Given the description of an element on the screen output the (x, y) to click on. 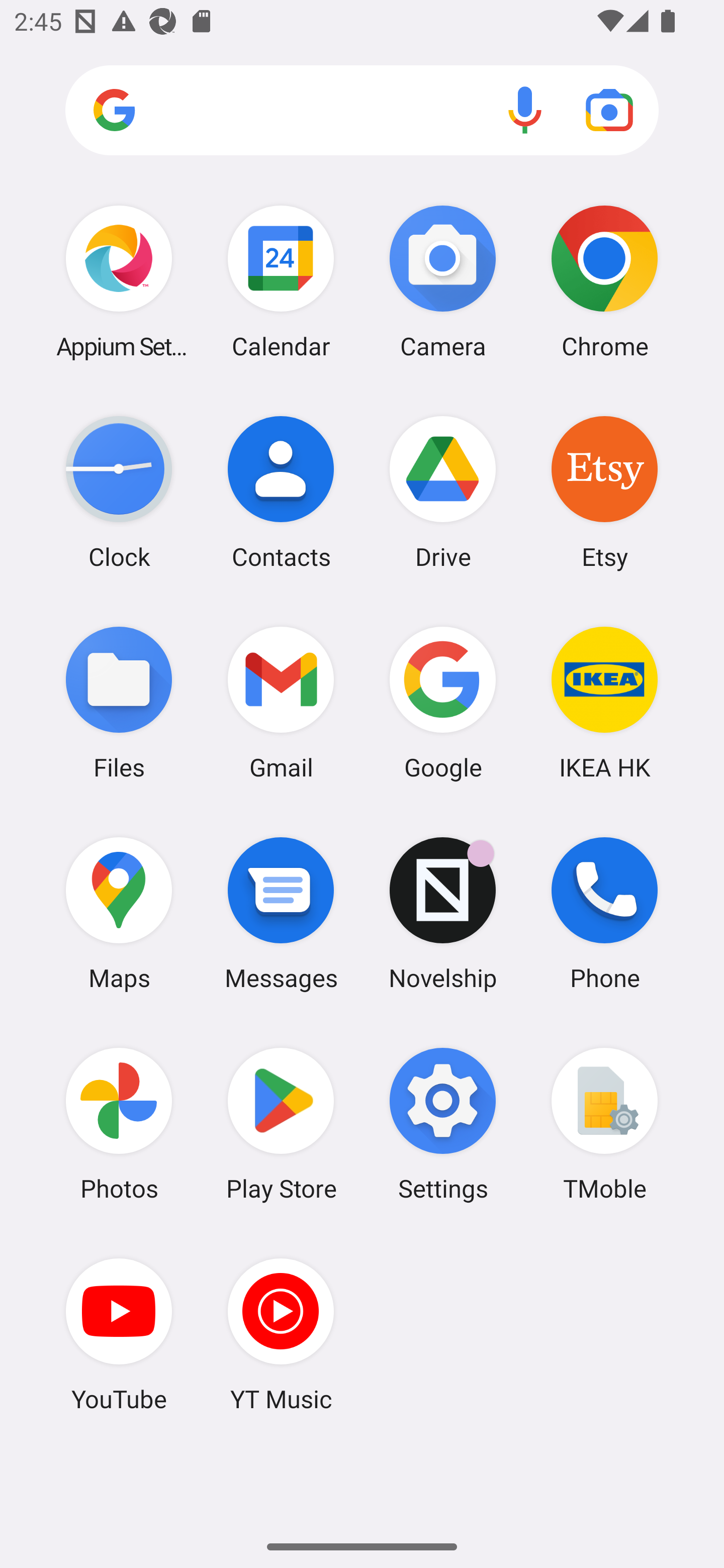
Search apps, web and more (361, 110)
Voice search (524, 109)
Google Lens (608, 109)
Appium Settings (118, 281)
Calendar (280, 281)
Camera (443, 281)
Chrome (604, 281)
Clock (118, 492)
Contacts (280, 492)
Drive (443, 492)
Etsy (604, 492)
Files (118, 702)
Gmail (280, 702)
Google (443, 702)
IKEA HK (604, 702)
Maps (118, 913)
Messages (280, 913)
Novelship Novelship has 1 notification (443, 913)
Phone (604, 913)
Photos (118, 1124)
Play Store (280, 1124)
Settings (443, 1124)
TMoble (604, 1124)
YouTube (118, 1334)
YT Music (280, 1334)
